Given the description of an element on the screen output the (x, y) to click on. 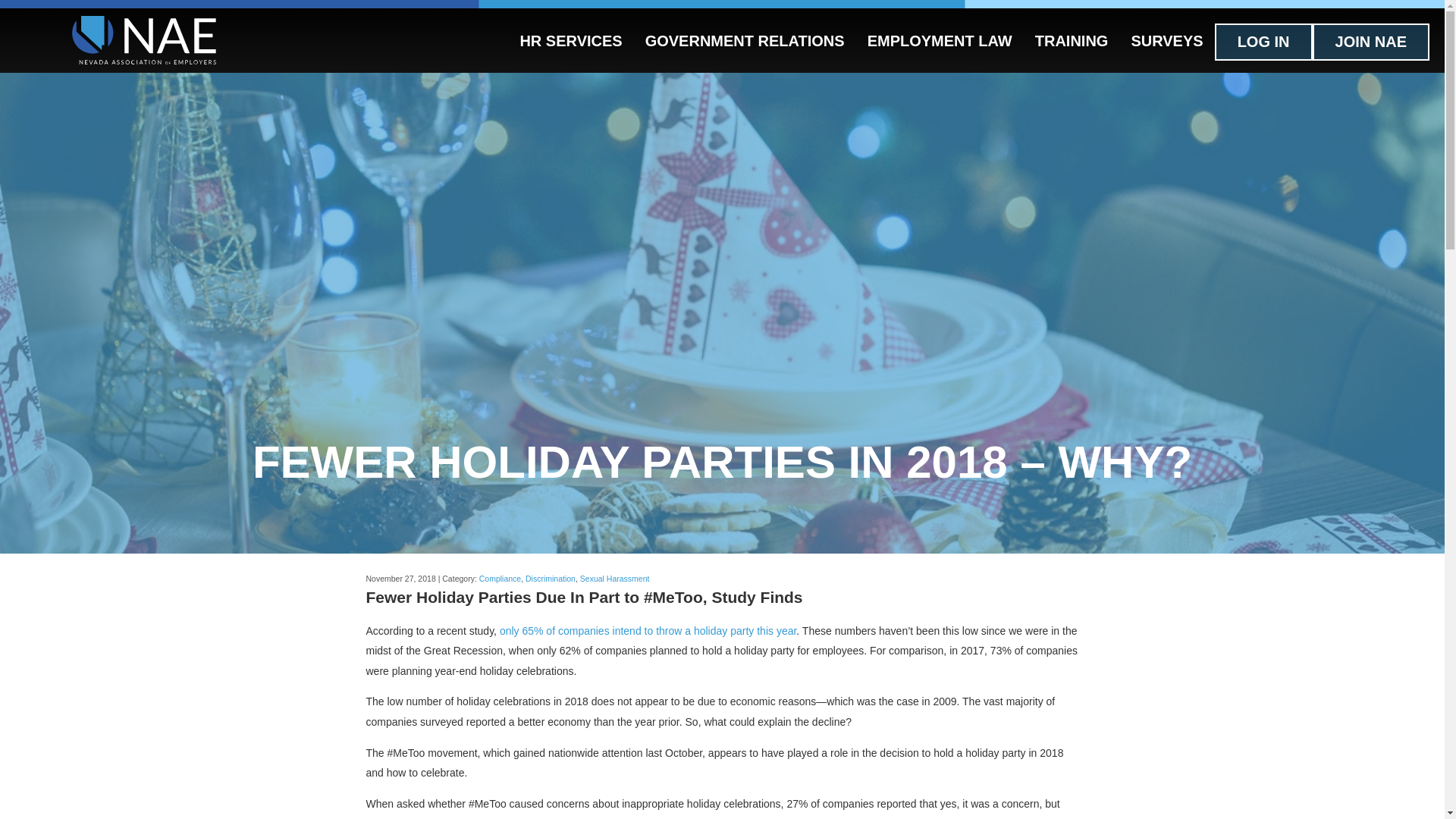
EMPLOYMENT LAW (939, 40)
JOIN NAE (1371, 41)
GOVERNMENT RELATIONS (744, 40)
TRAINING (1071, 40)
HR SERVICES (570, 40)
LOG IN (1263, 41)
NAE (143, 43)
SURVEYS (1166, 40)
